Given the description of an element on the screen output the (x, y) to click on. 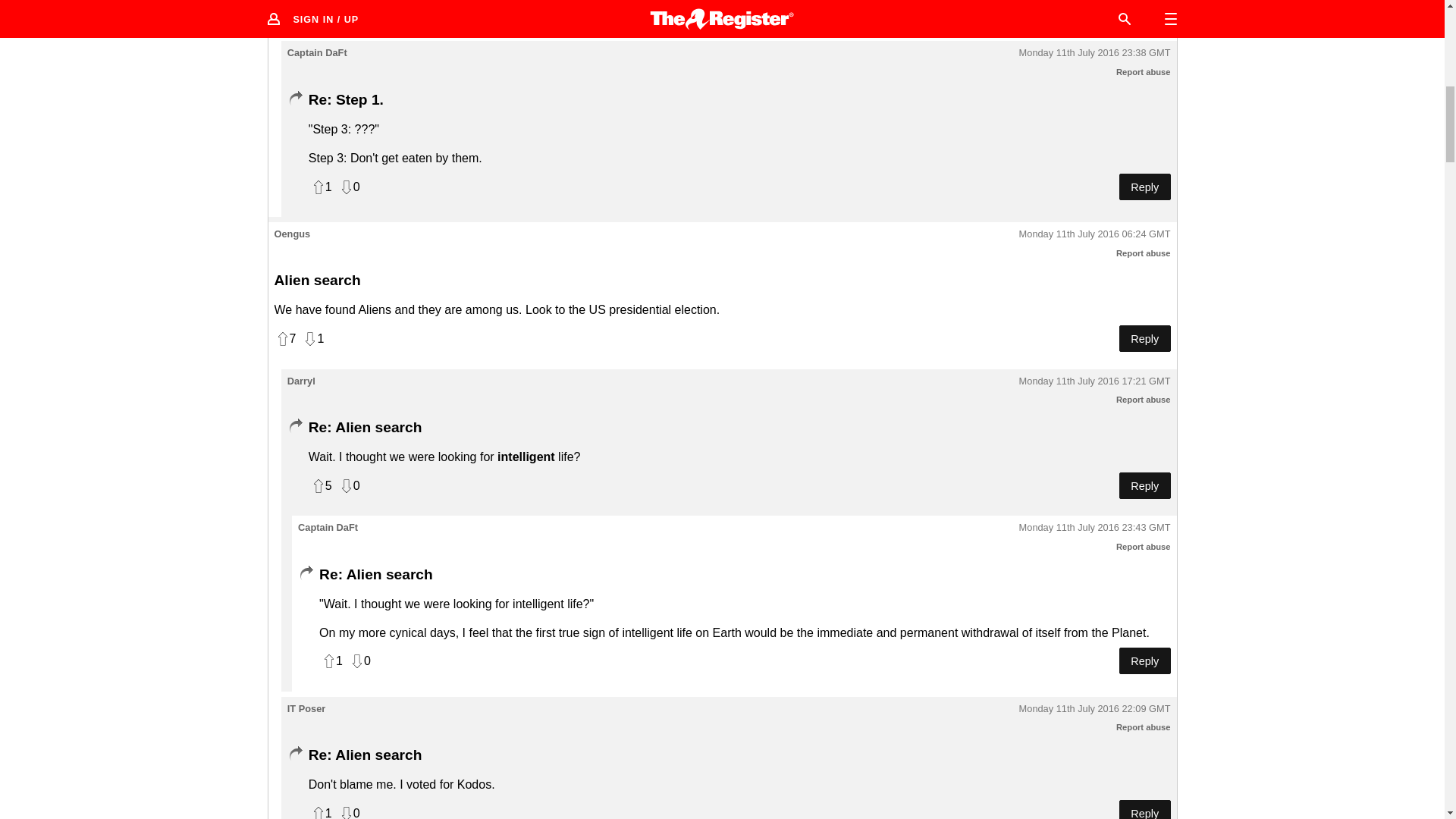
Report abuse (1143, 71)
Report abuse (1143, 546)
Report abuse (1143, 399)
Report abuse (1143, 727)
Report abuse (1143, 252)
Like this post? Vote for it! (320, 6)
